Given the description of an element on the screen output the (x, y) to click on. 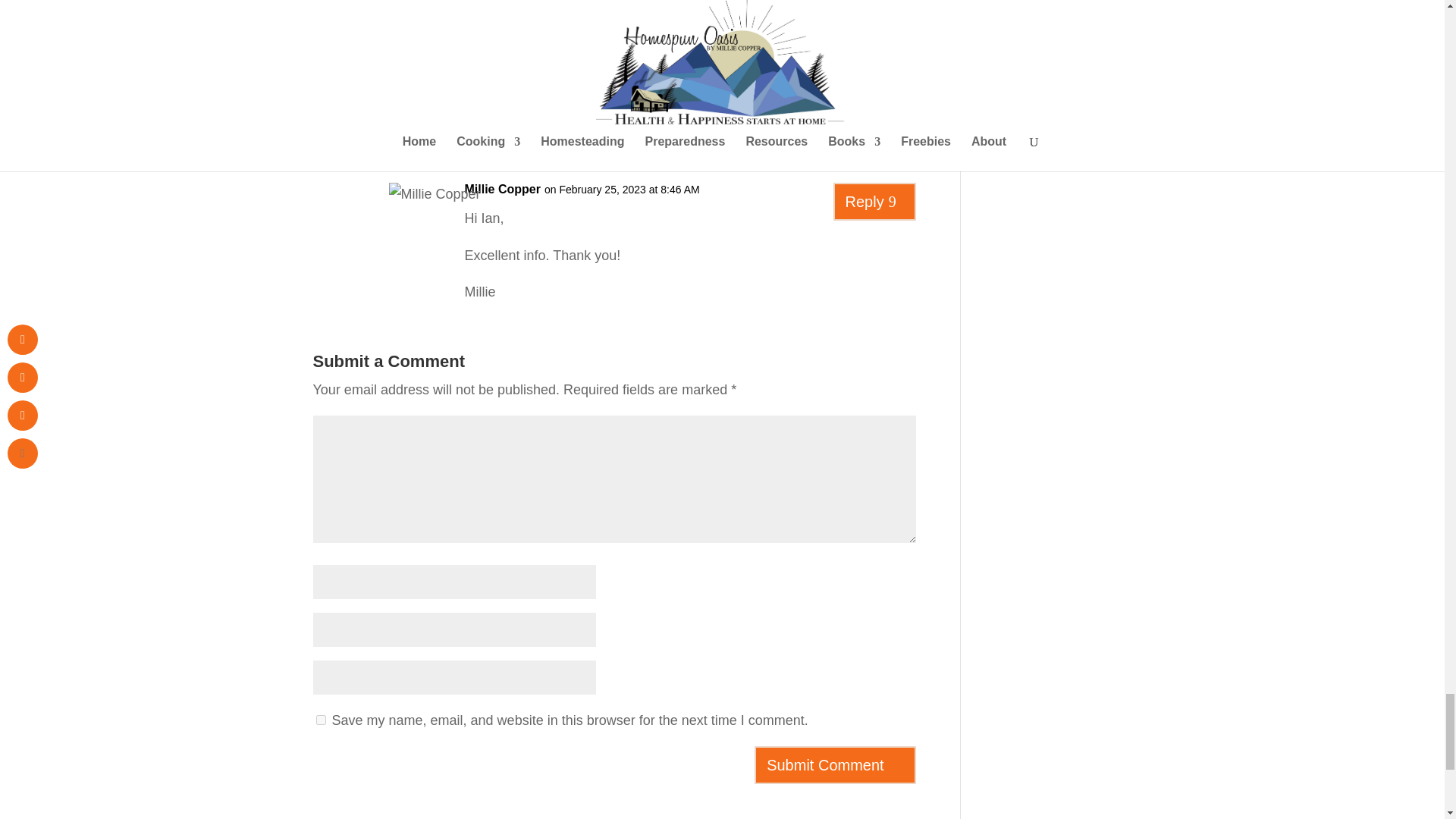
Submit Comment (834, 764)
yes (319, 719)
